Given the description of an element on the screen output the (x, y) to click on. 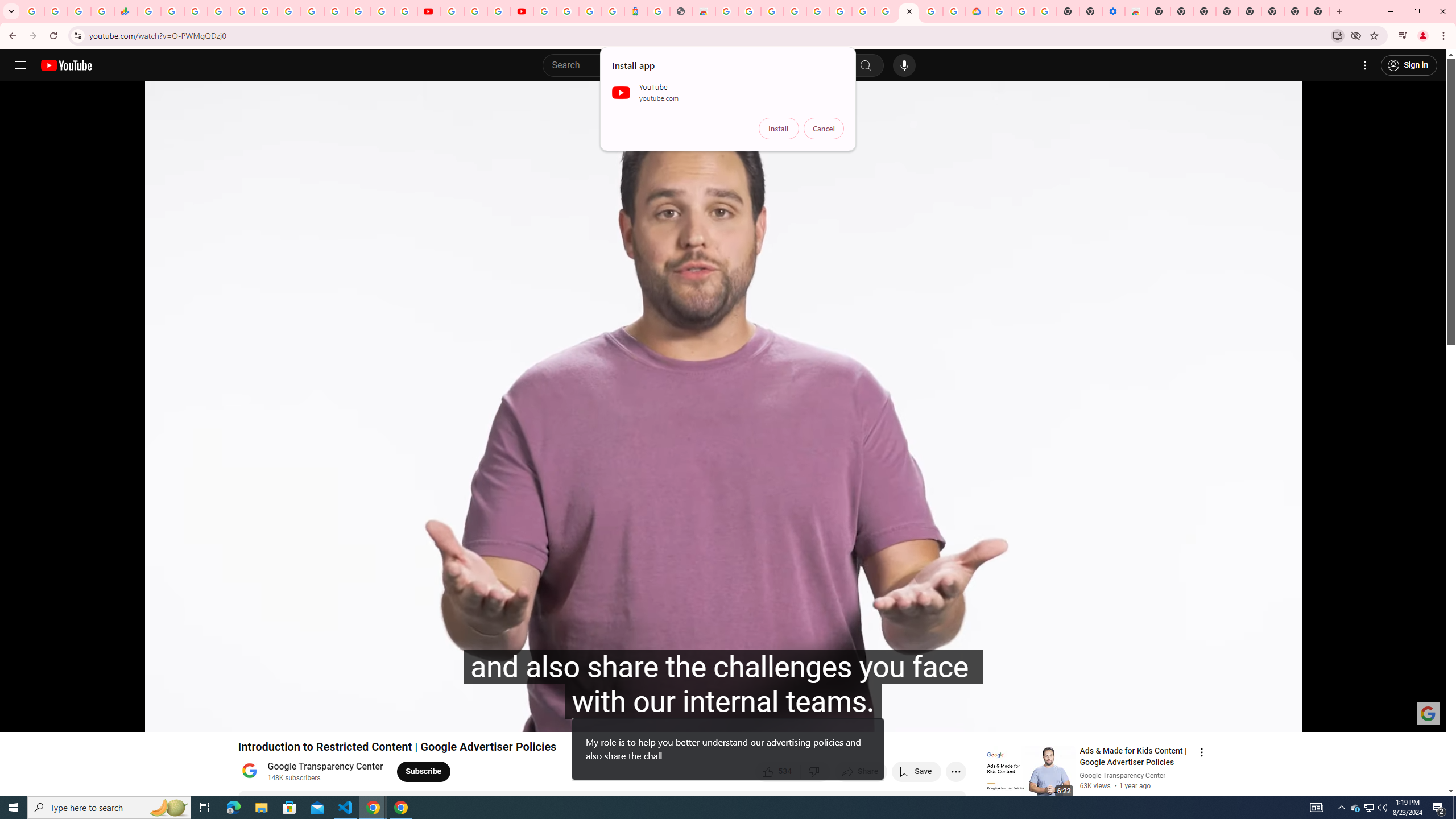
Channel watermark (1427, 713)
Channel watermark (1427, 713)
Chrome Web Store - Accessibility extensions (1136, 11)
Dislike this video (815, 771)
Settings - Accessibility (1113, 11)
Install (778, 128)
Google Transparency Center (325, 766)
